Given the description of an element on the screen output the (x, y) to click on. 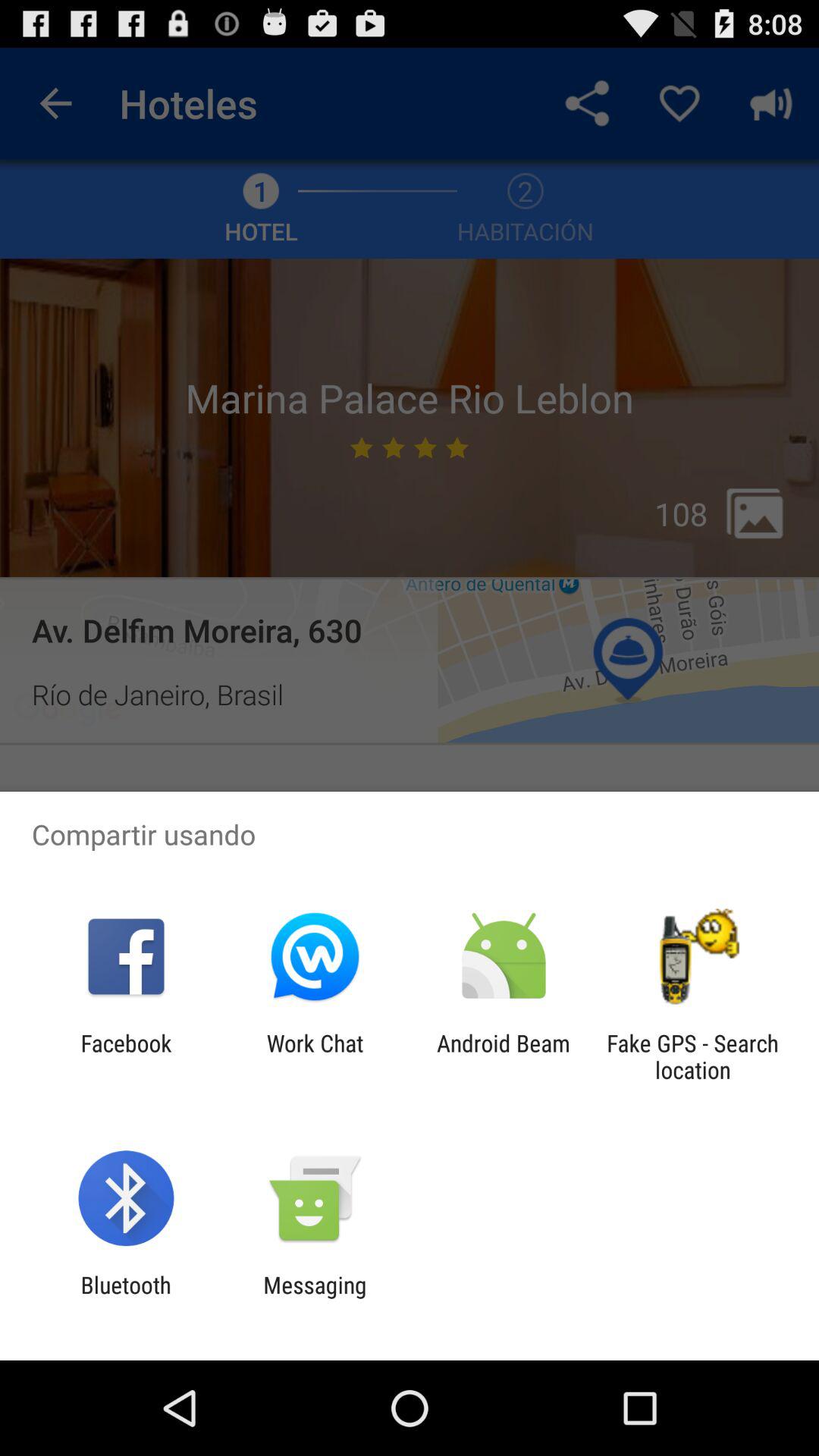
flip to bluetooth app (125, 1298)
